Given the description of an element on the screen output the (x, y) to click on. 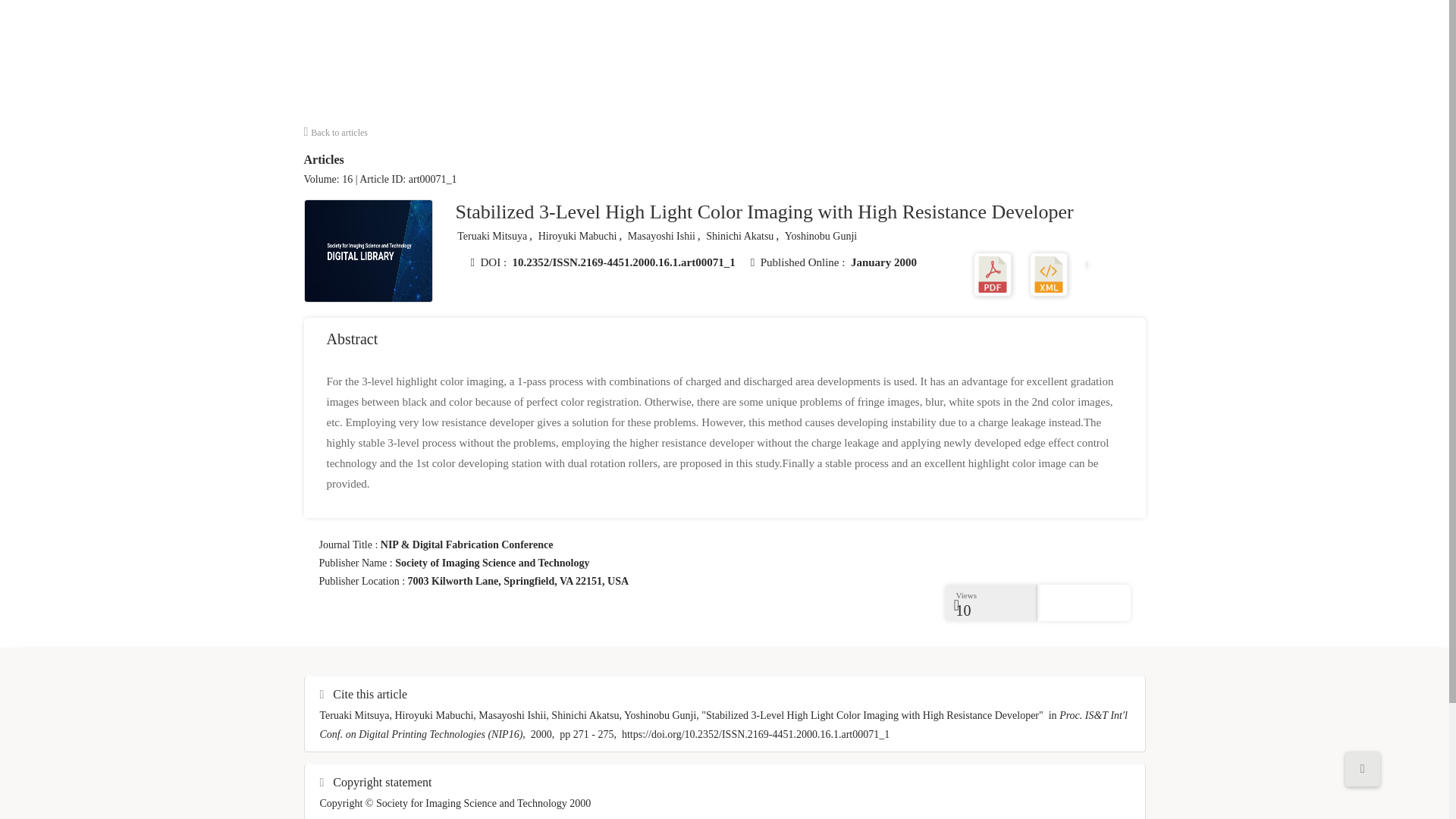
No article cover image (368, 250)
Download XML (1048, 273)
Download PDF (992, 273)
